Given the description of an element on the screen output the (x, y) to click on. 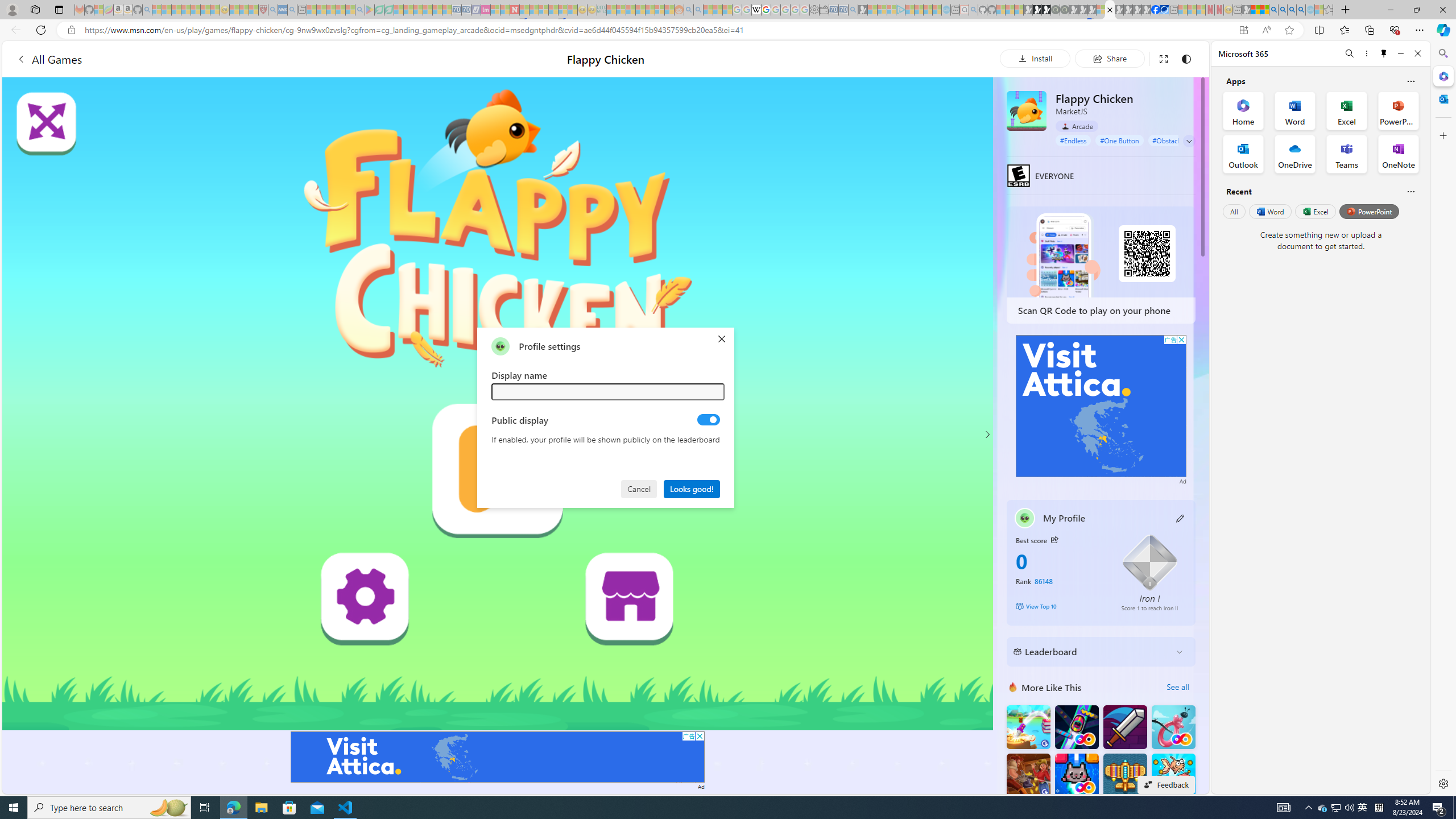
Balloon FRVR (1173, 726)
PowerPoint Office App (1398, 110)
View Top 10 (1060, 605)
2009 Bing officially replaced Live Search on June 3 - Search (1283, 9)
Knife Flip (1028, 726)
